Given the description of an element on the screen output the (x, y) to click on. 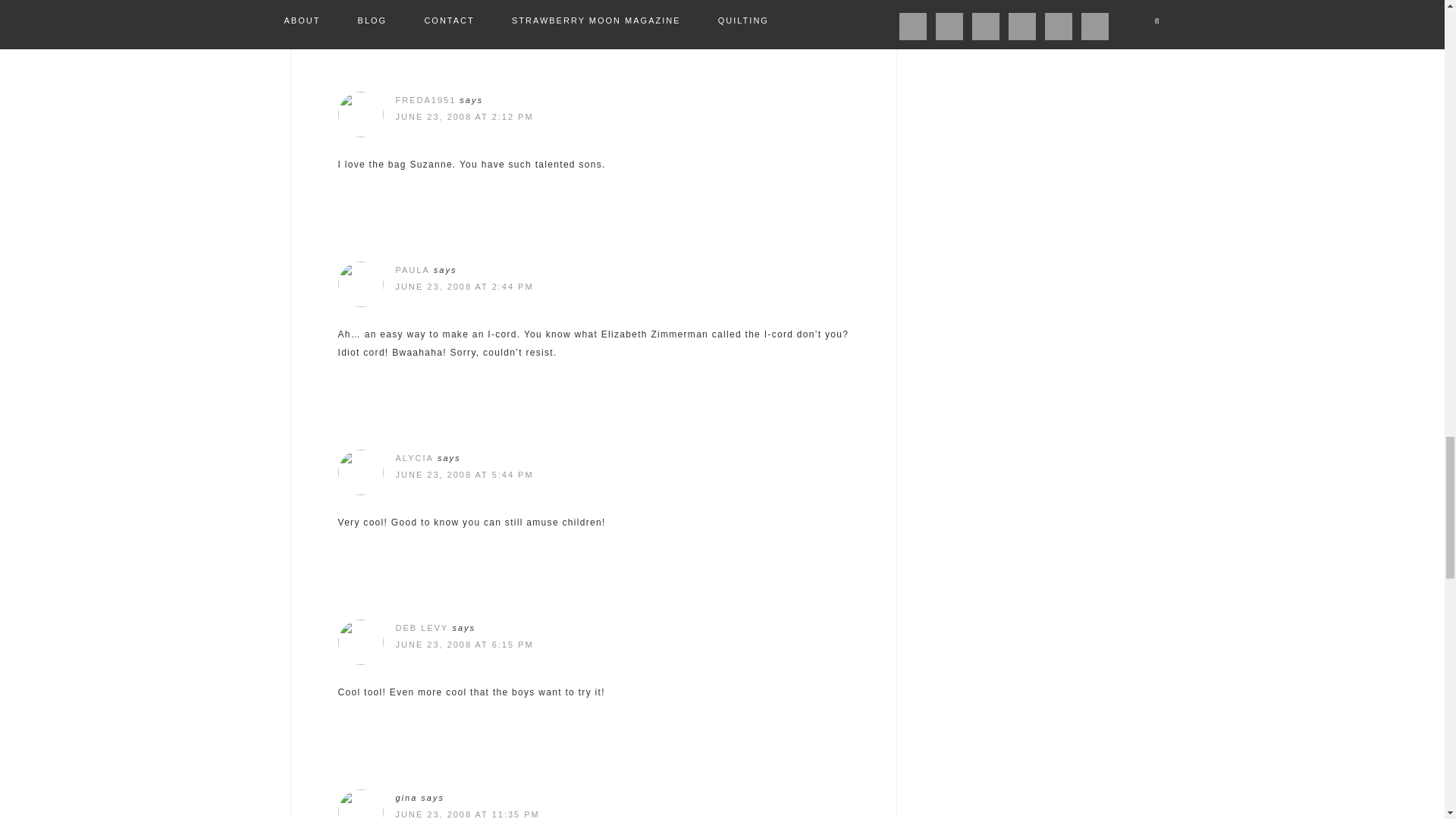
JUNE 23, 2008 AT 11:35 PM (468, 814)
JUNE 23, 2008 AT 2:12 PM (465, 116)
JUNE 23, 2008 AT 6:15 PM (465, 644)
DEB LEVY (422, 627)
PAULA (412, 269)
FREDA1951 (426, 99)
ALYCIA (414, 457)
JUNE 23, 2008 AT 5:44 PM (465, 474)
JUNE 23, 2008 AT 2:44 PM (465, 286)
